Given the description of an element on the screen output the (x, y) to click on. 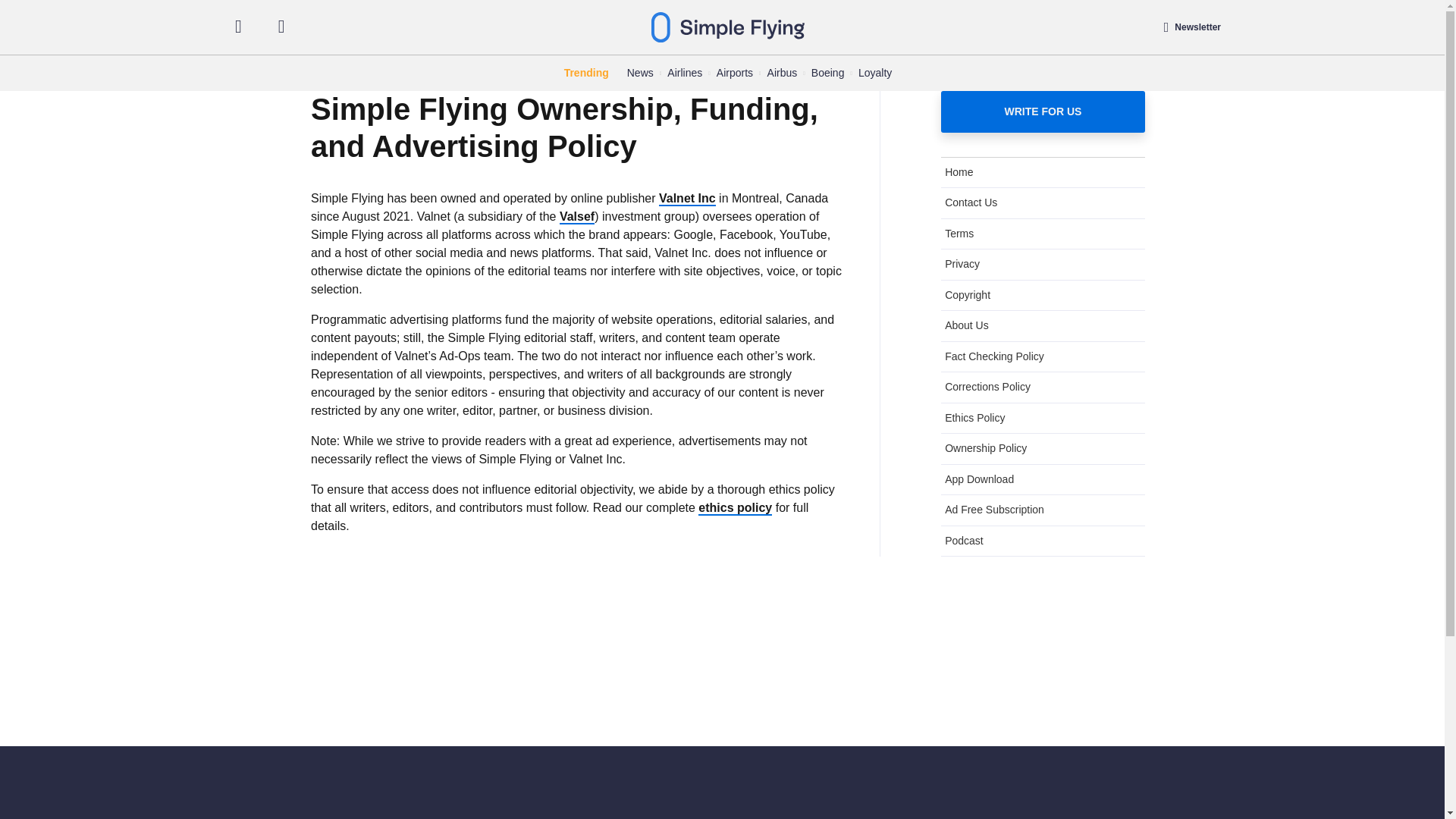
ethics policy (734, 508)
News (640, 72)
Valsef (576, 216)
Valnet Inc (687, 198)
Simple Flying (727, 27)
Boeing (827, 72)
Airlines (683, 72)
Airports (734, 72)
Newsletter (1192, 26)
Loyalty (875, 72)
Airbus (782, 72)
